Given the description of an element on the screen output the (x, y) to click on. 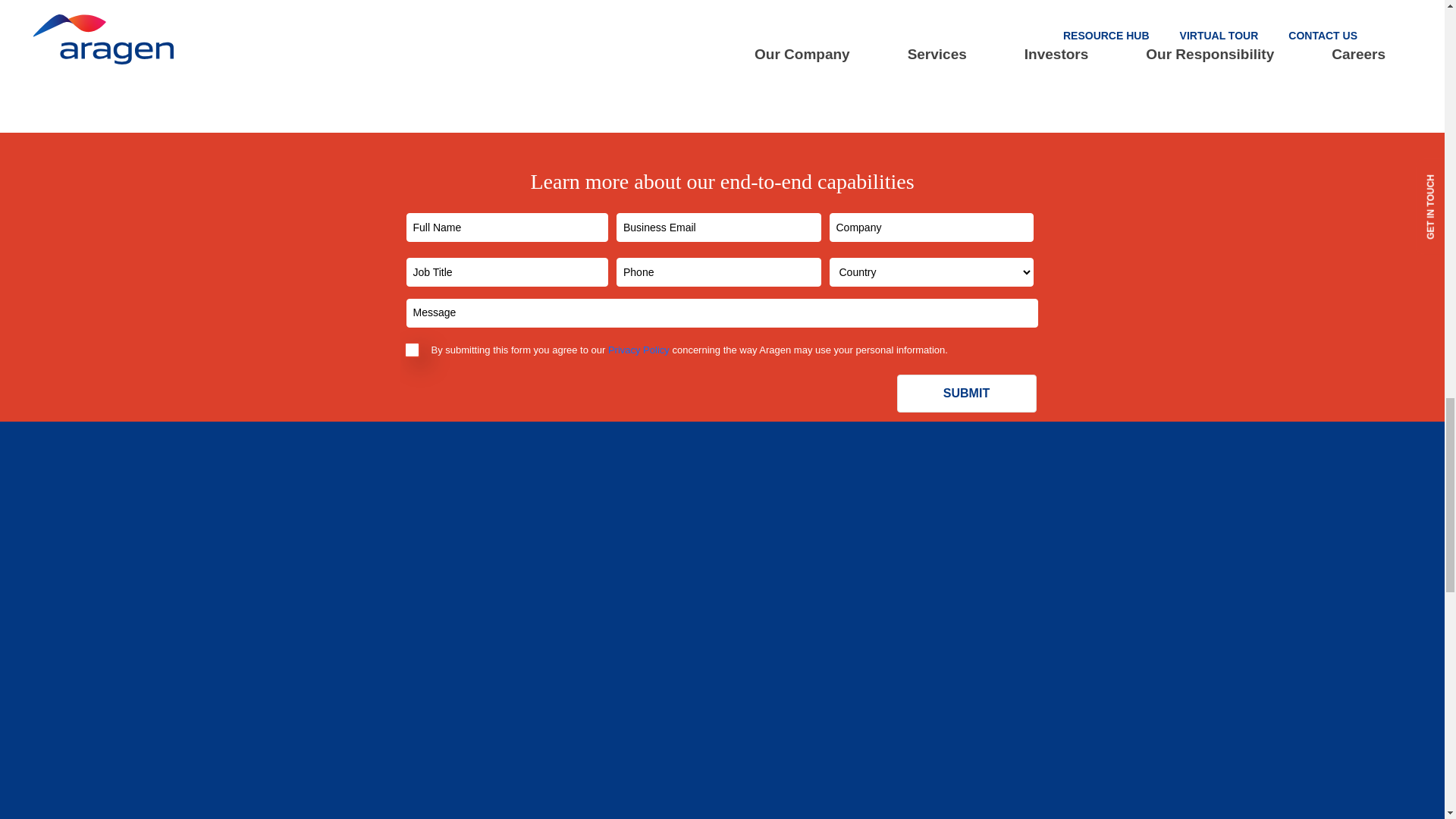
SUBMIT (965, 393)
